Given the description of an element on the screen output the (x, y) to click on. 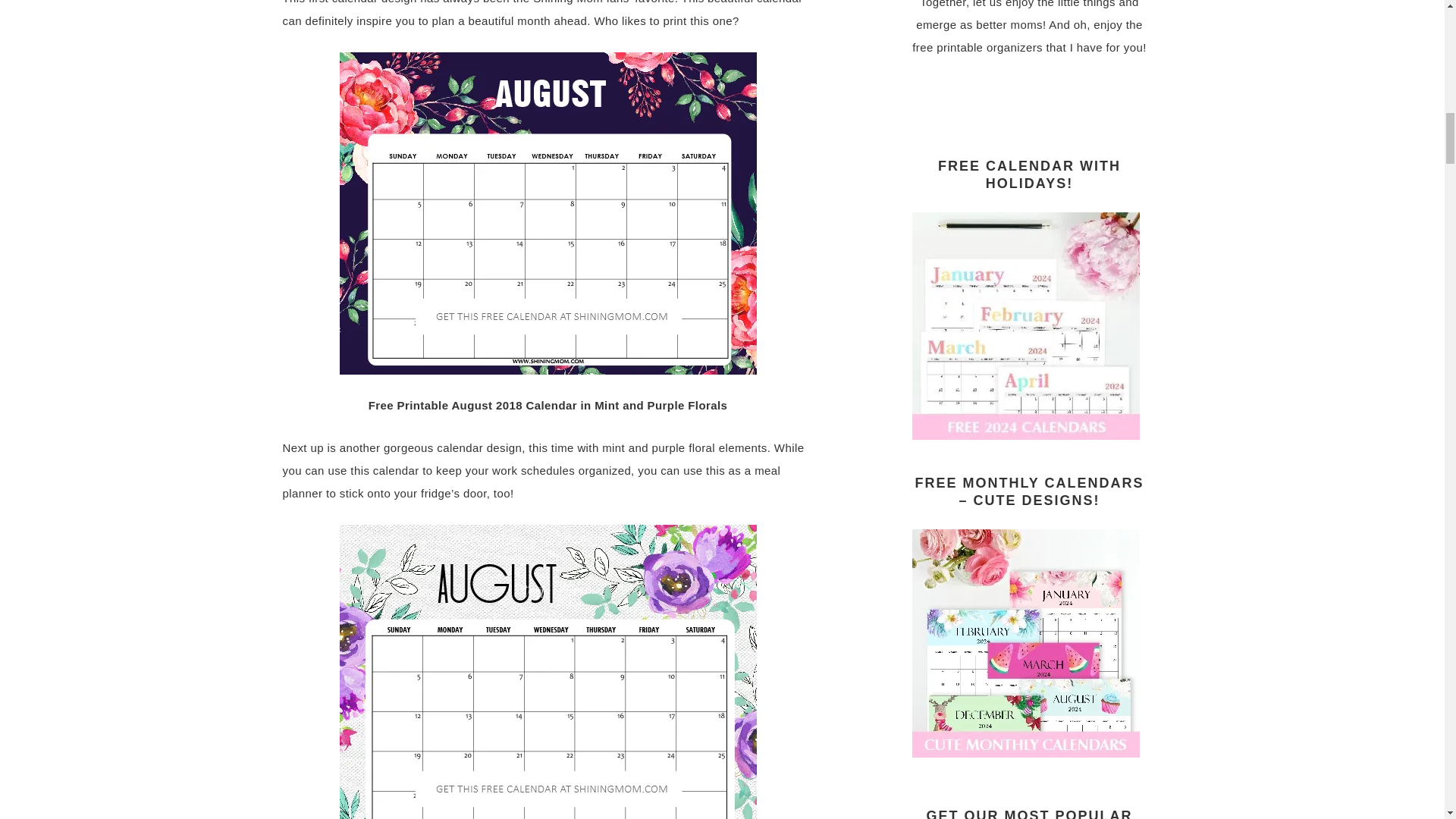
calendar-2024-with-US-holidays (1024, 431)
